Given the description of an element on the screen output the (x, y) to click on. 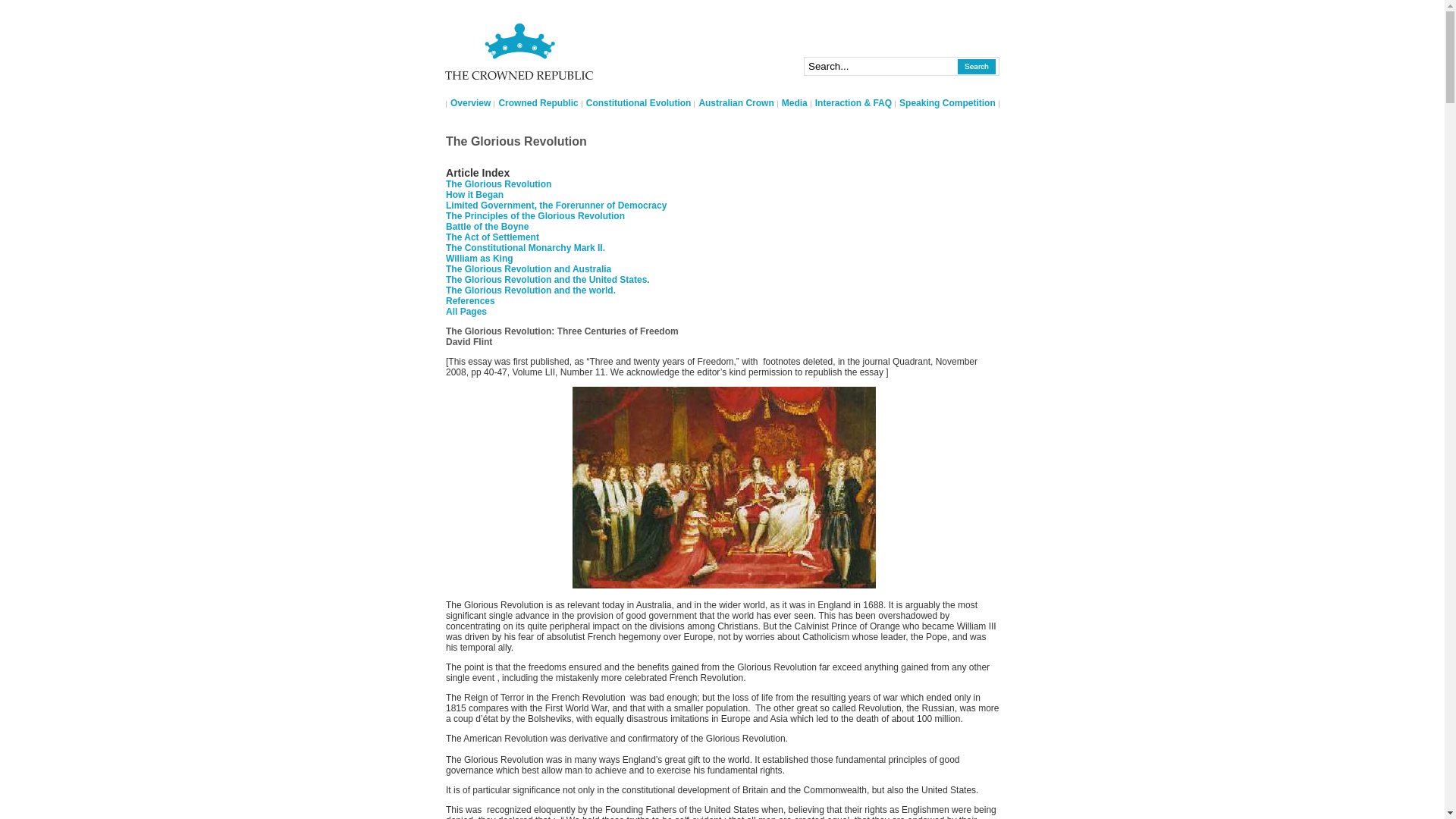
The Glorious Revolution Element type: hover (723, 487)
The Act of Settlement Element type: text (492, 237)
Search Element type: hover (976, 66)
Battle of the Boyne Element type: text (486, 226)
Limited Government, the Forerunner of Democracy Element type: text (555, 205)
Interaction & FAQ Element type: text (853, 103)
Australian Crown Element type: text (735, 103)
The Glorious Revolution and the United States. Element type: text (547, 279)
All Pages Element type: text (465, 311)
Overview Element type: text (470, 103)
The Glorious Revolution Element type: text (498, 183)
The Glorious Revolution and the world. Element type: text (530, 290)
The Glorious Revolution and Australia Element type: text (528, 268)
The Principles of the Glorious Revolution Element type: text (534, 215)
William as King Element type: text (479, 258)
Crowned Republic Element type: text (537, 103)
References Element type: text (470, 300)
Media Element type: text (794, 103)
How it Began Element type: text (474, 194)
Speaking Competition Element type: text (947, 103)
Constitutional Evolution Element type: text (638, 103)
The Constitutional Monarchy Mark II. Element type: text (525, 247)
